Given the description of an element on the screen output the (x, y) to click on. 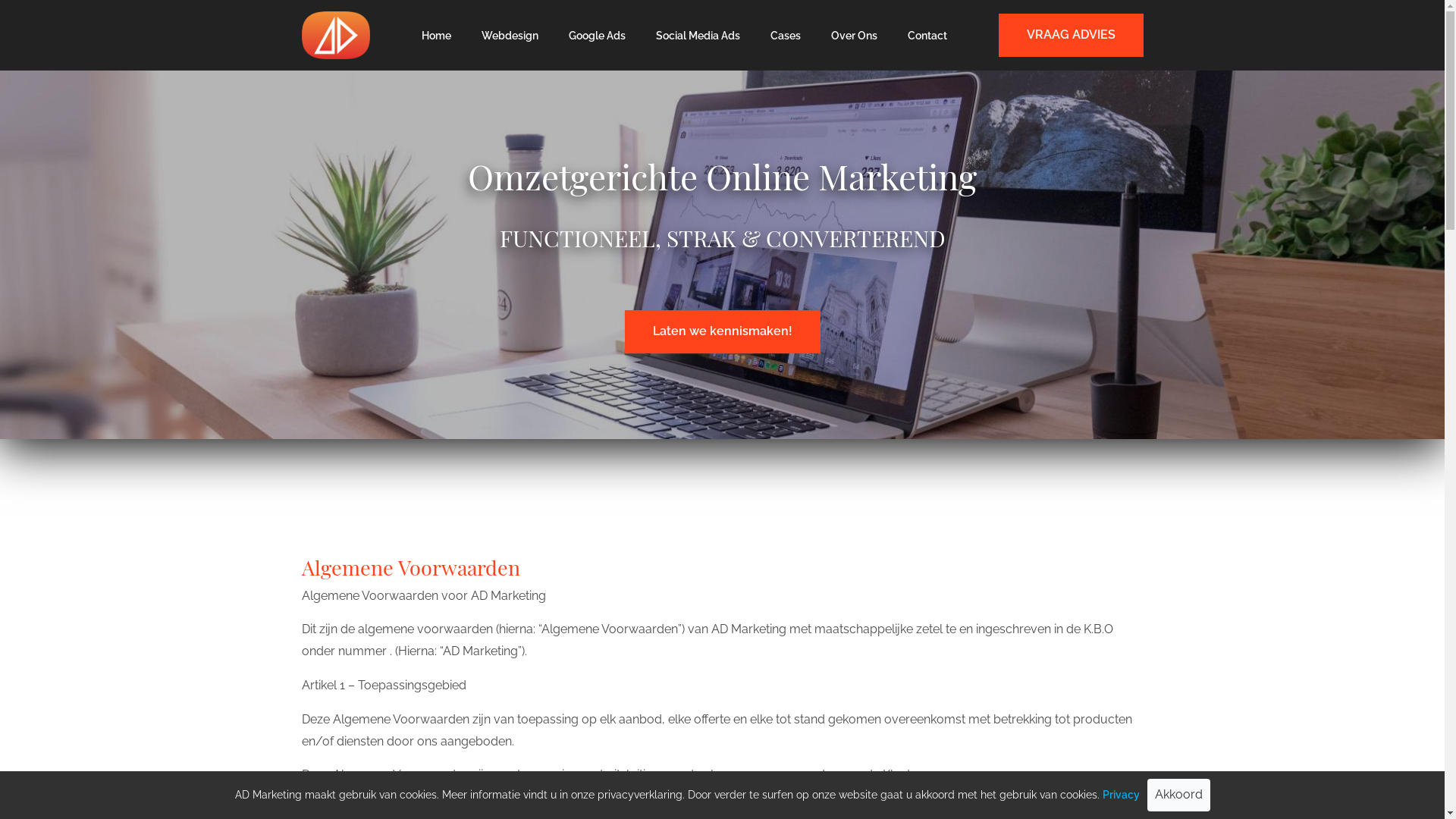
Over Ons Element type: text (853, 35)
Cases Element type: text (785, 35)
Privacy Element type: text (1120, 794)
Contact Element type: text (926, 35)
Home Element type: text (436, 35)
Webdesign Element type: text (508, 35)
VRAAG ADVIES Element type: text (1069, 34)
Social Media Ads Element type: text (697, 35)
Google Ads Element type: text (596, 35)
Laten we kennismaken! Element type: text (722, 331)
